Given the description of an element on the screen output the (x, y) to click on. 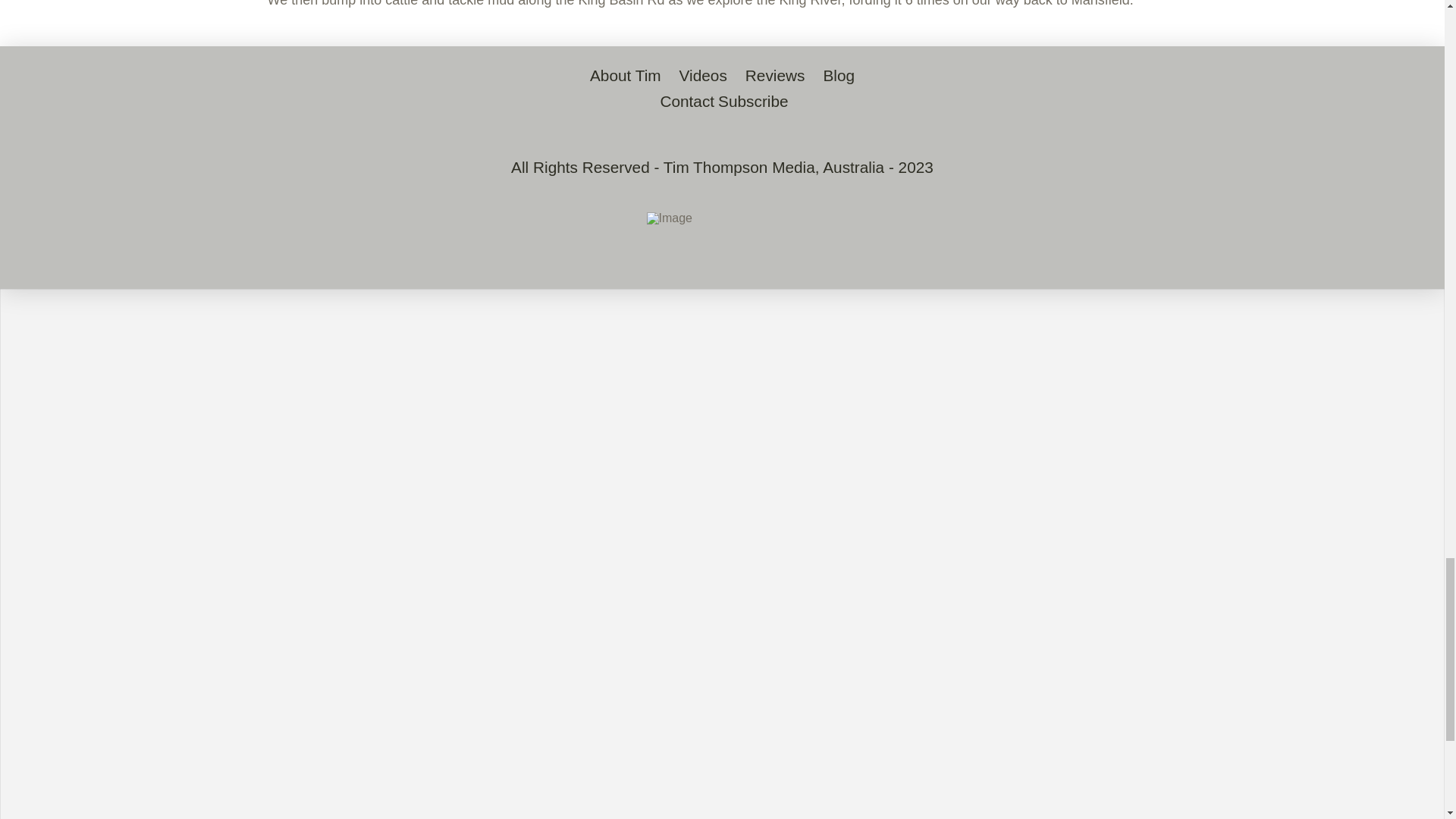
Reviews (774, 75)
About Tim (624, 75)
Blog (838, 75)
Videos (702, 75)
